Given the description of an element on the screen output the (x, y) to click on. 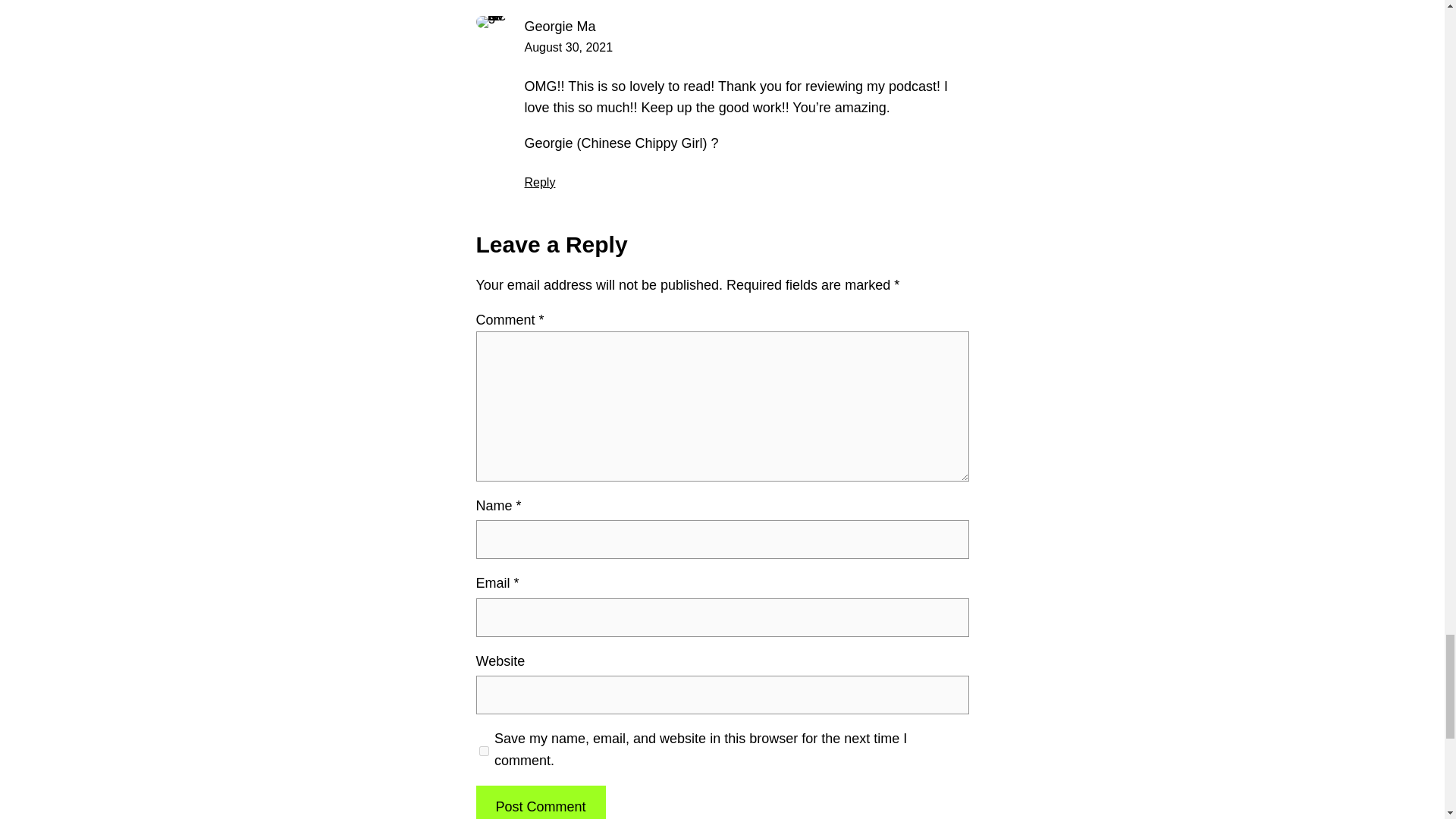
August 30, 2021 (568, 47)
Reply (540, 182)
Post Comment (540, 802)
Post Comment (540, 802)
yes (484, 750)
